Given the description of an element on the screen output the (x, y) to click on. 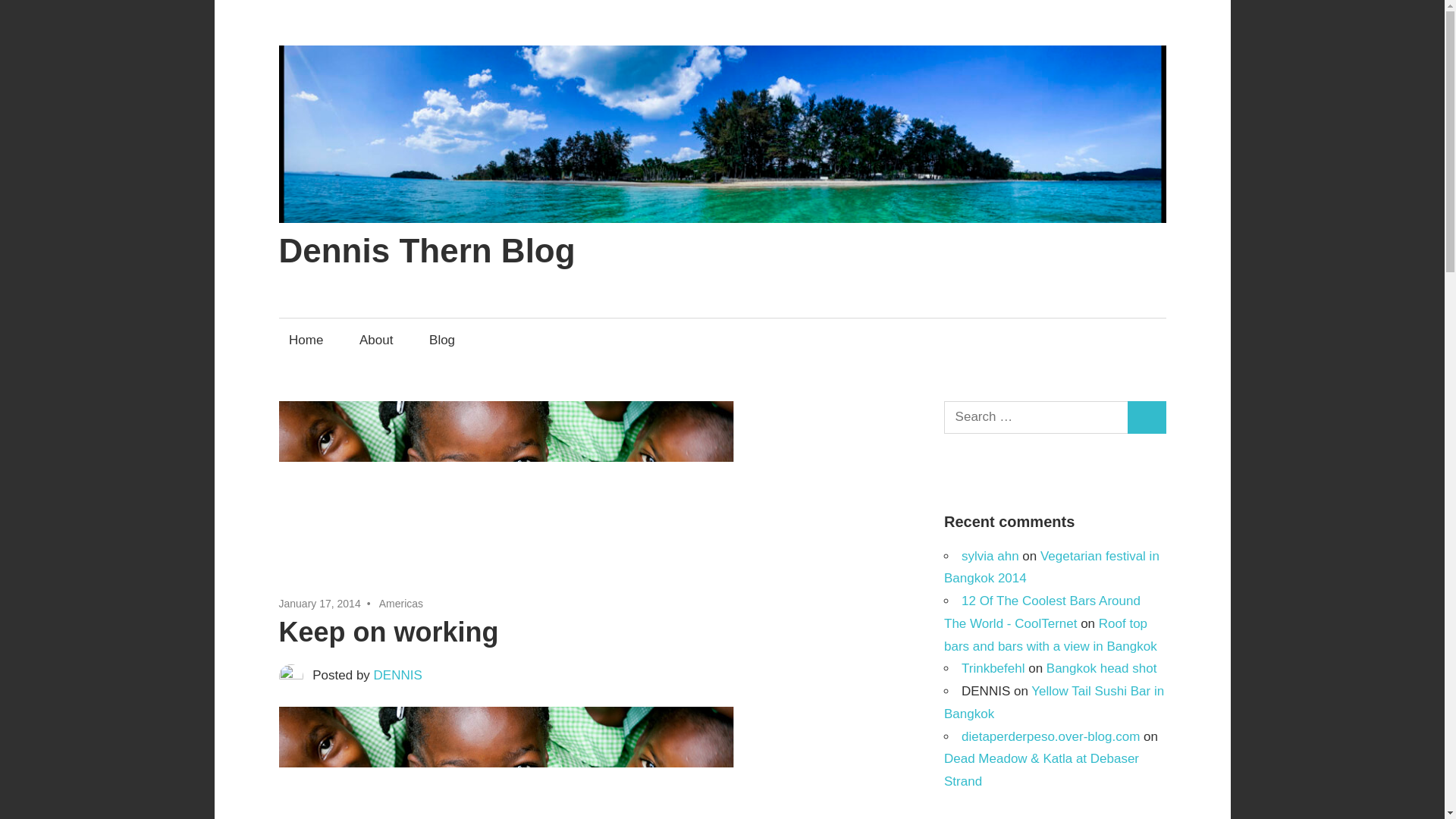
Vegetarian festival in Bangkok 2014 (1050, 567)
19:10 (320, 603)
Yellow Tail Sushi Bar in Bangkok (1053, 702)
Search (1146, 417)
Roof top bars and bars with a view in Bangkok (1050, 634)
Home (306, 339)
January 17, 2014 (320, 603)
DENNIS (398, 675)
Trinkbefehl (992, 667)
Americas (400, 603)
